Given the description of an element on the screen output the (x, y) to click on. 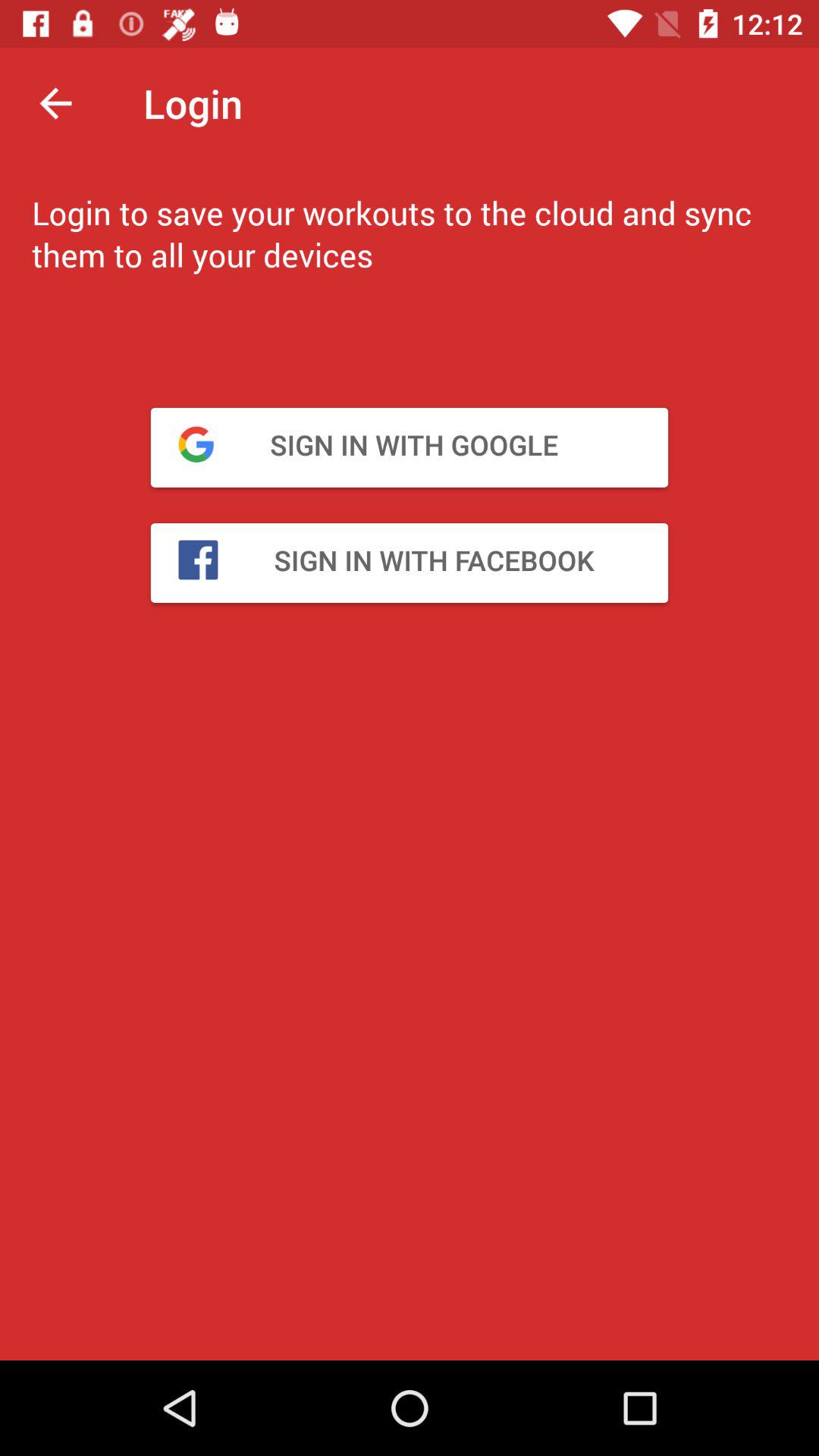
click the item to the left of the login item (55, 103)
